Given the description of an element on the screen output the (x, y) to click on. 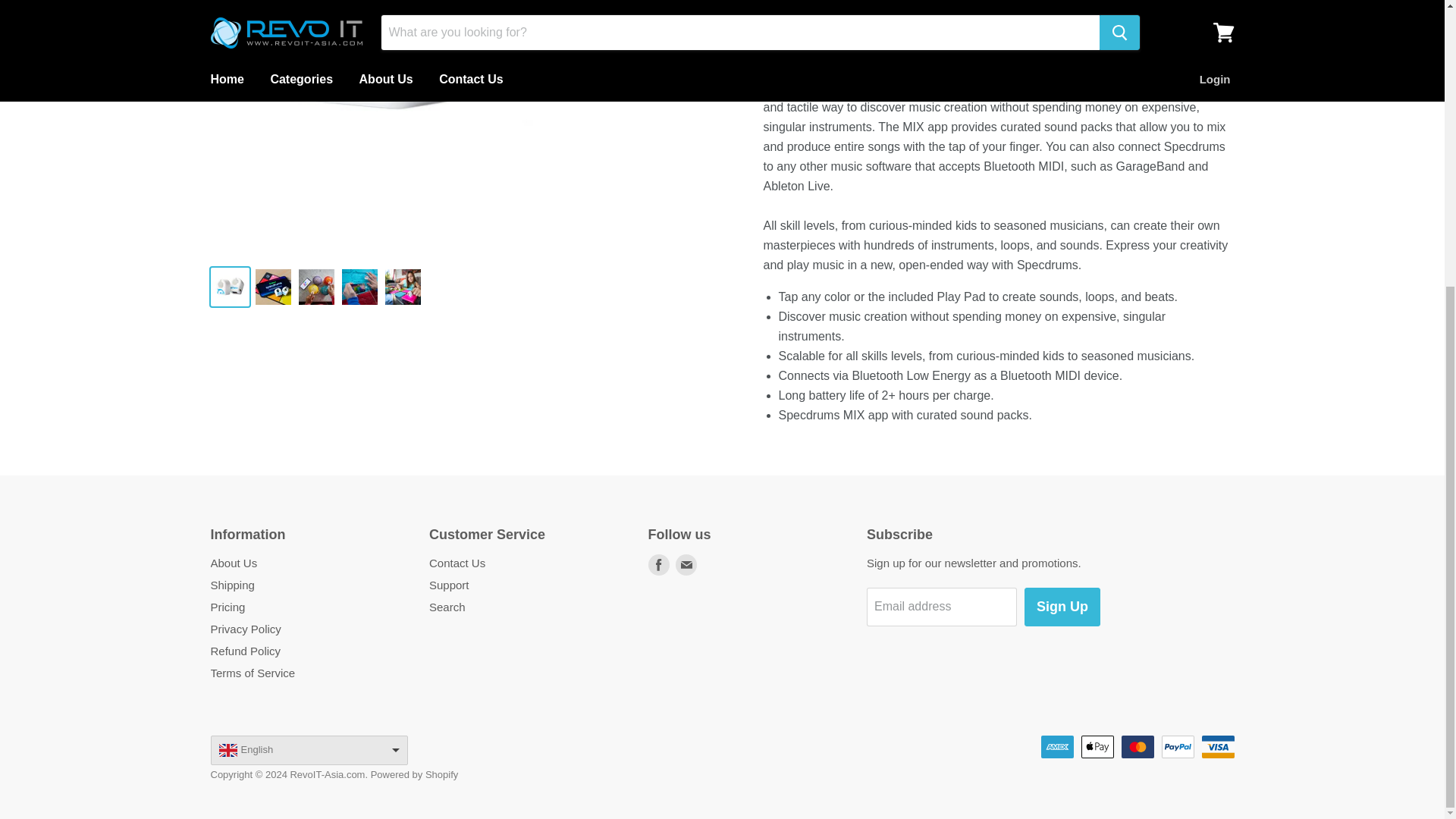
Facebook (658, 564)
Terms of Service (253, 672)
Support (448, 584)
Refund Policy (246, 650)
E-mail (684, 564)
About Us (234, 562)
Search (447, 606)
Privacy Policy (246, 628)
Shipping (232, 584)
Contact Us (456, 562)
